Given the description of an element on the screen output the (x, y) to click on. 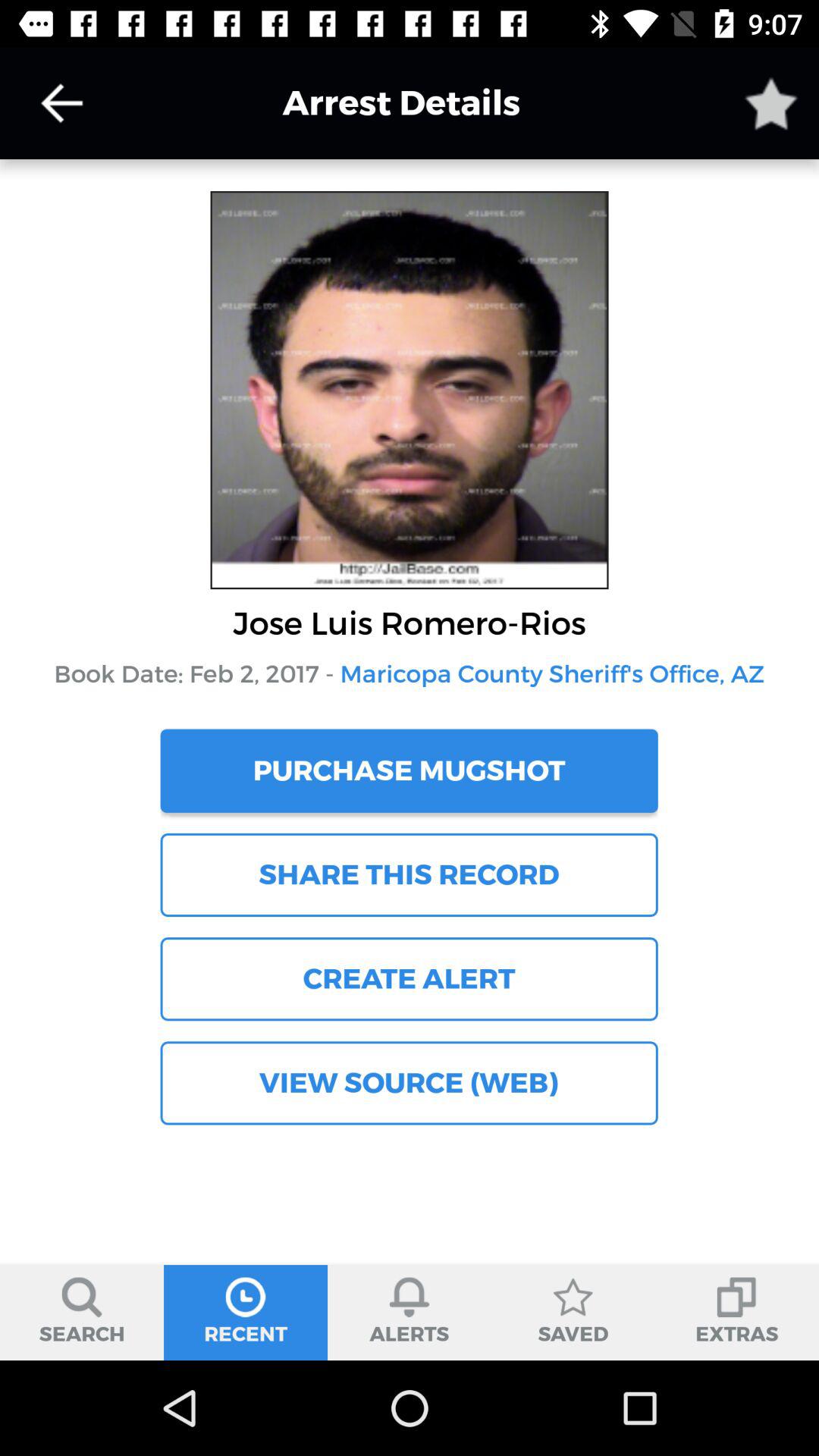
go back (61, 103)
